Given the description of an element on the screen output the (x, y) to click on. 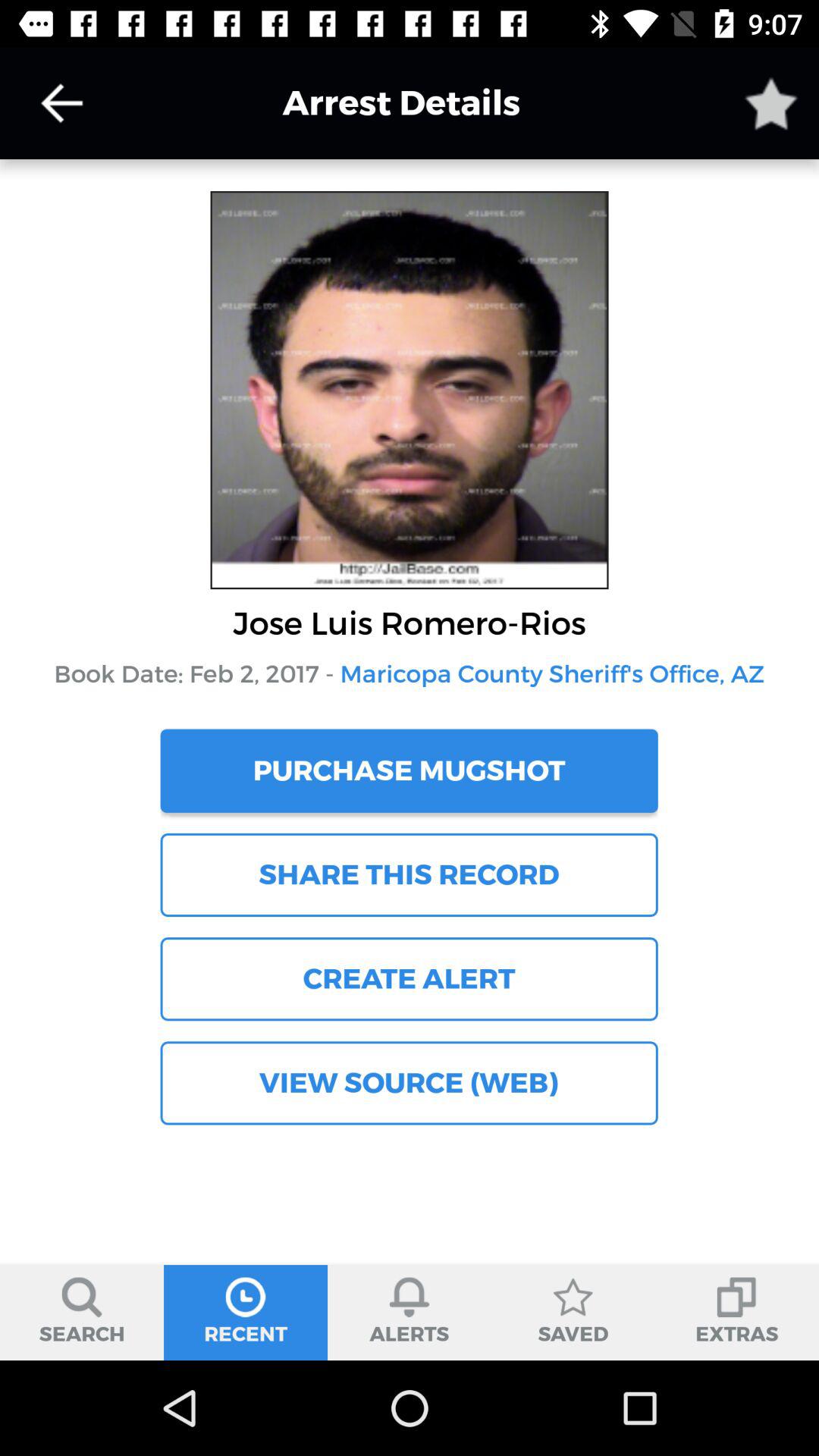
go back (61, 103)
